Given the description of an element on the screen output the (x, y) to click on. 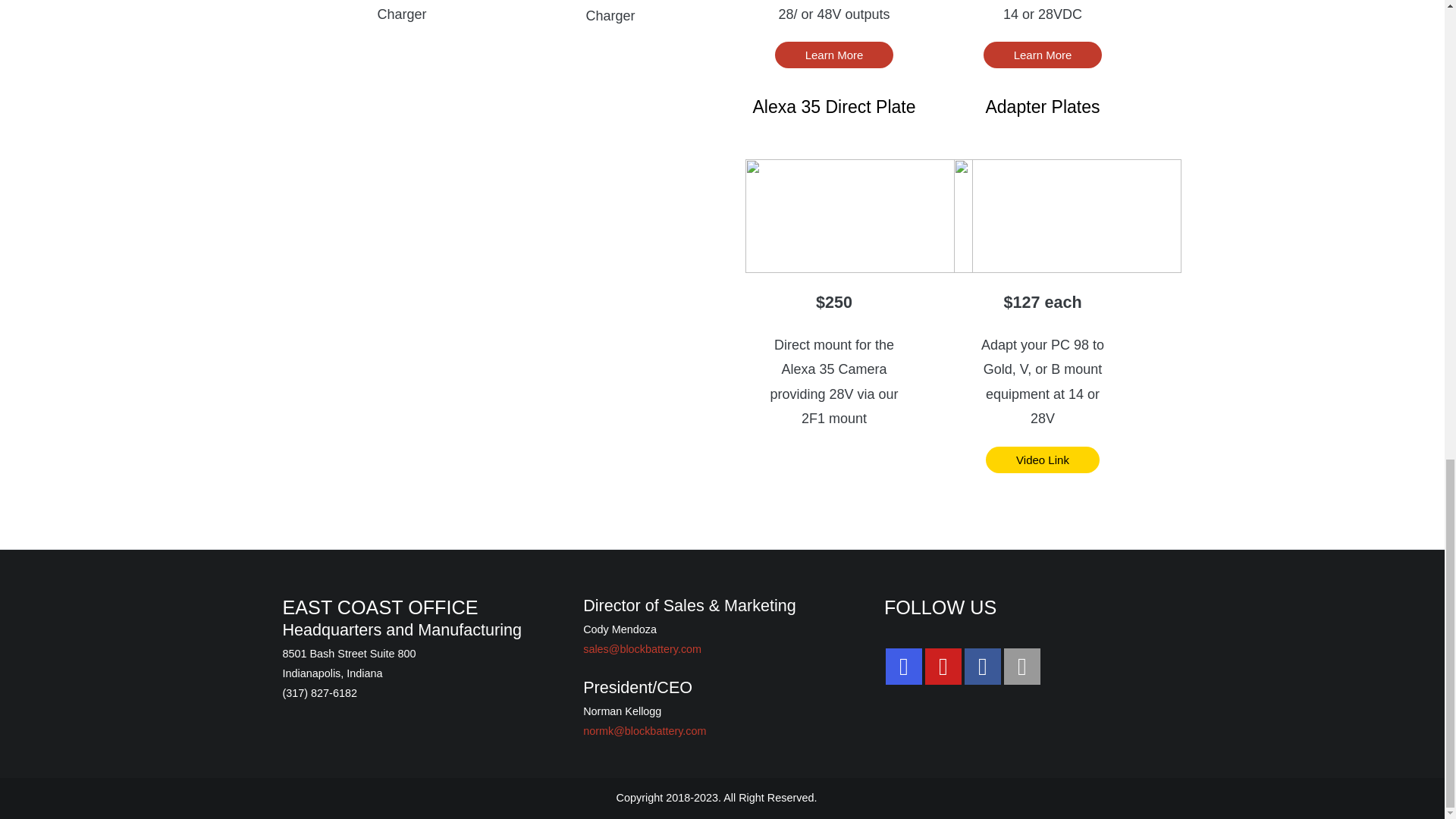
YouTube (942, 666)
Facebook (982, 666)
Instagram (903, 666)
LinkedIn (1022, 666)
